Given the description of an element on the screen output the (x, y) to click on. 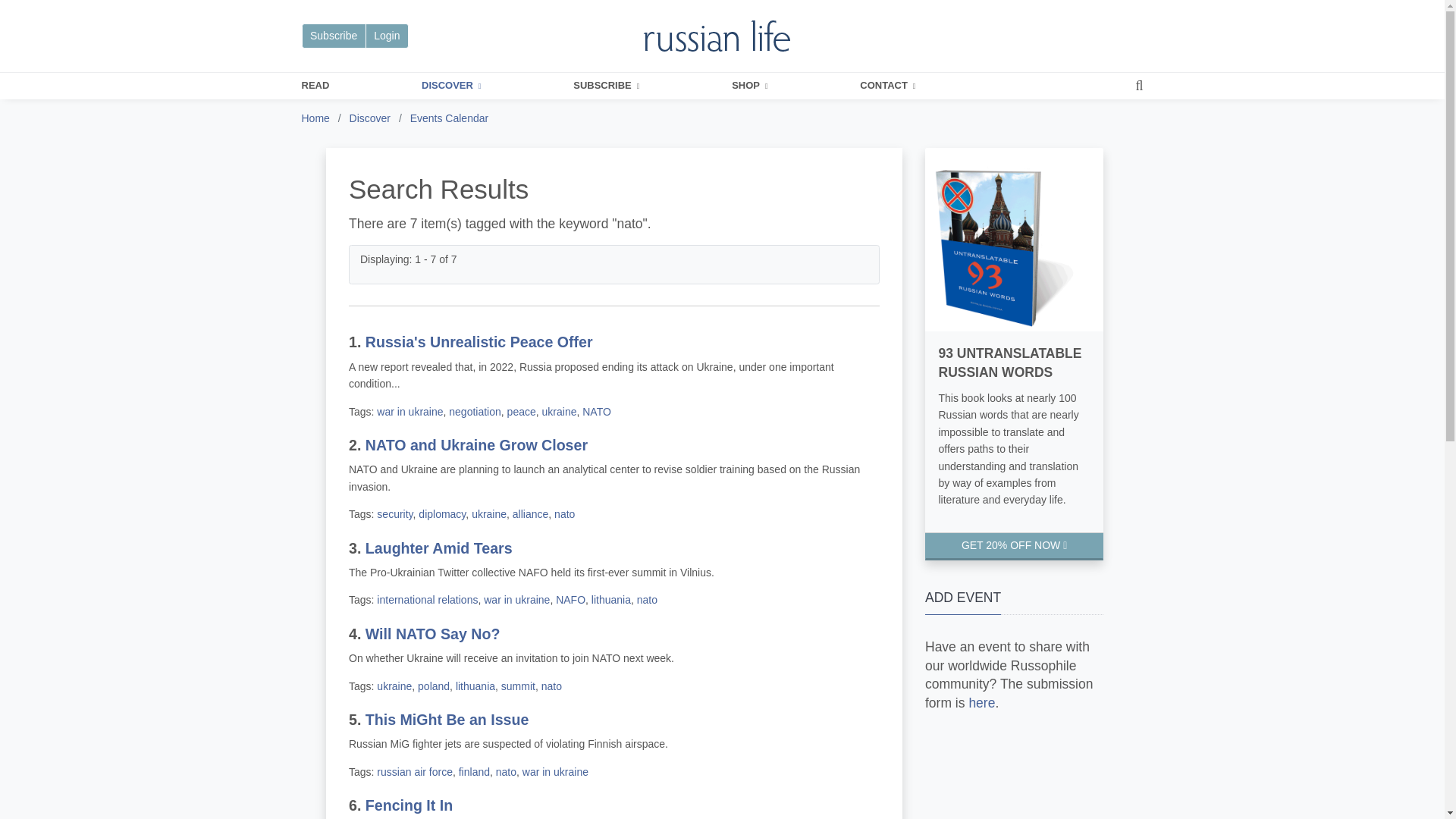
SUBSCRIBE (606, 85)
CONTACT (887, 85)
SHOP (749, 85)
Home (315, 118)
Subscribe (333, 36)
READ (315, 85)
Login (387, 36)
DISCOVER (451, 85)
Russia's Unrealistic Peace Offer (478, 341)
Discover (369, 118)
